Given the description of an element on the screen output the (x, y) to click on. 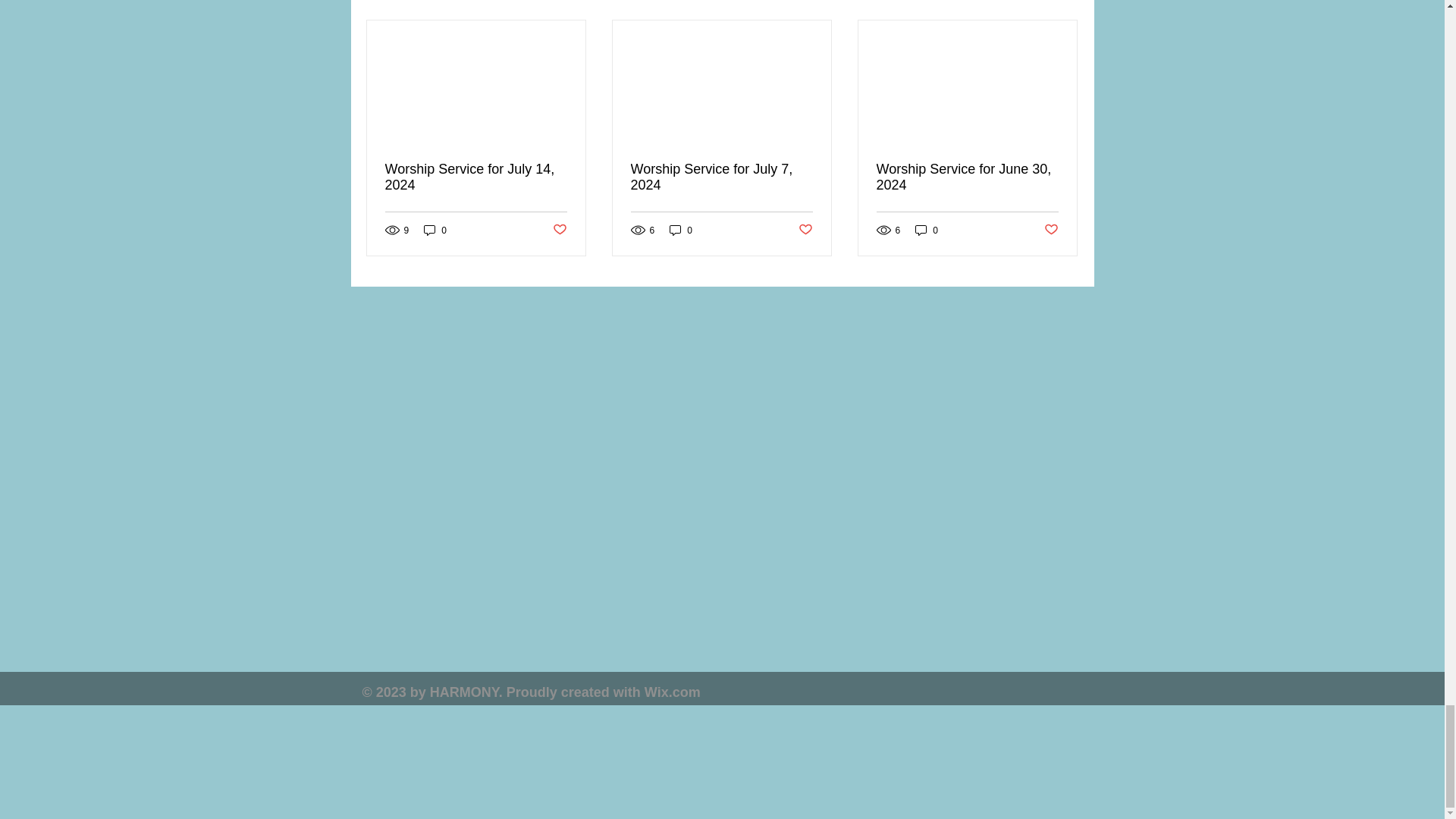
See All (1061, 2)
Post not marked as liked (804, 229)
0 (435, 229)
Post not marked as liked (558, 229)
0 (681, 229)
Worship Service for July 14, 2024 (476, 177)
0 (926, 229)
Post not marked as liked (1050, 229)
Worship Service for June 30, 2024 (967, 177)
Worship Service for July 7, 2024 (721, 177)
Wix.com (672, 692)
